Given the description of an element on the screen output the (x, y) to click on. 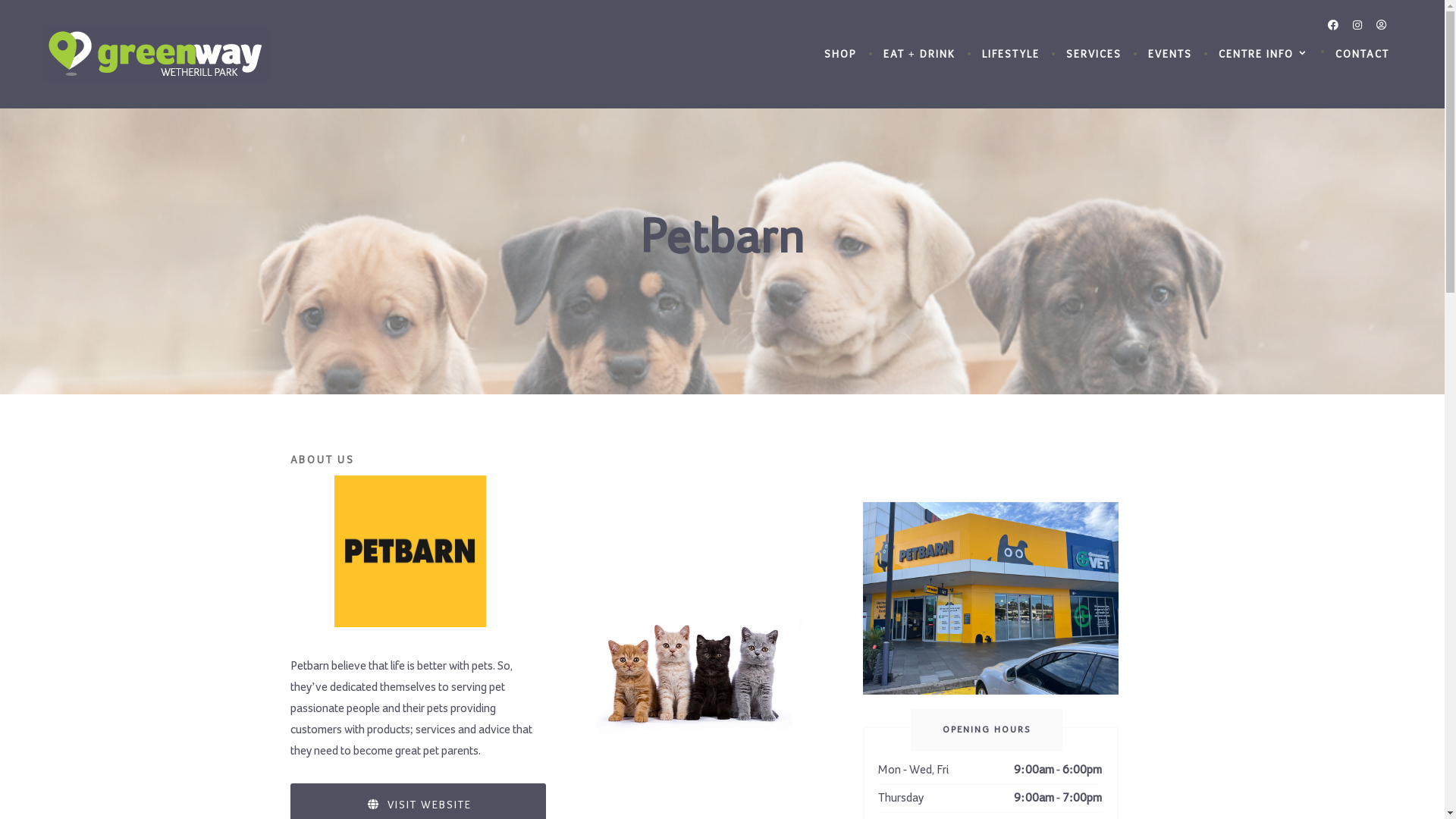
SERVICES Element type: text (1093, 55)
LIFESTYLE Element type: text (1010, 55)
Skip to content Element type: text (0, 0)
SHOP Element type: text (840, 55)
CONTACT Element type: text (1362, 55)
EAT + DRINK Element type: text (919, 55)
EVENTS Element type: text (1170, 55)
CENTRE INFO Element type: text (1263, 53)
